Given the description of an element on the screen output the (x, y) to click on. 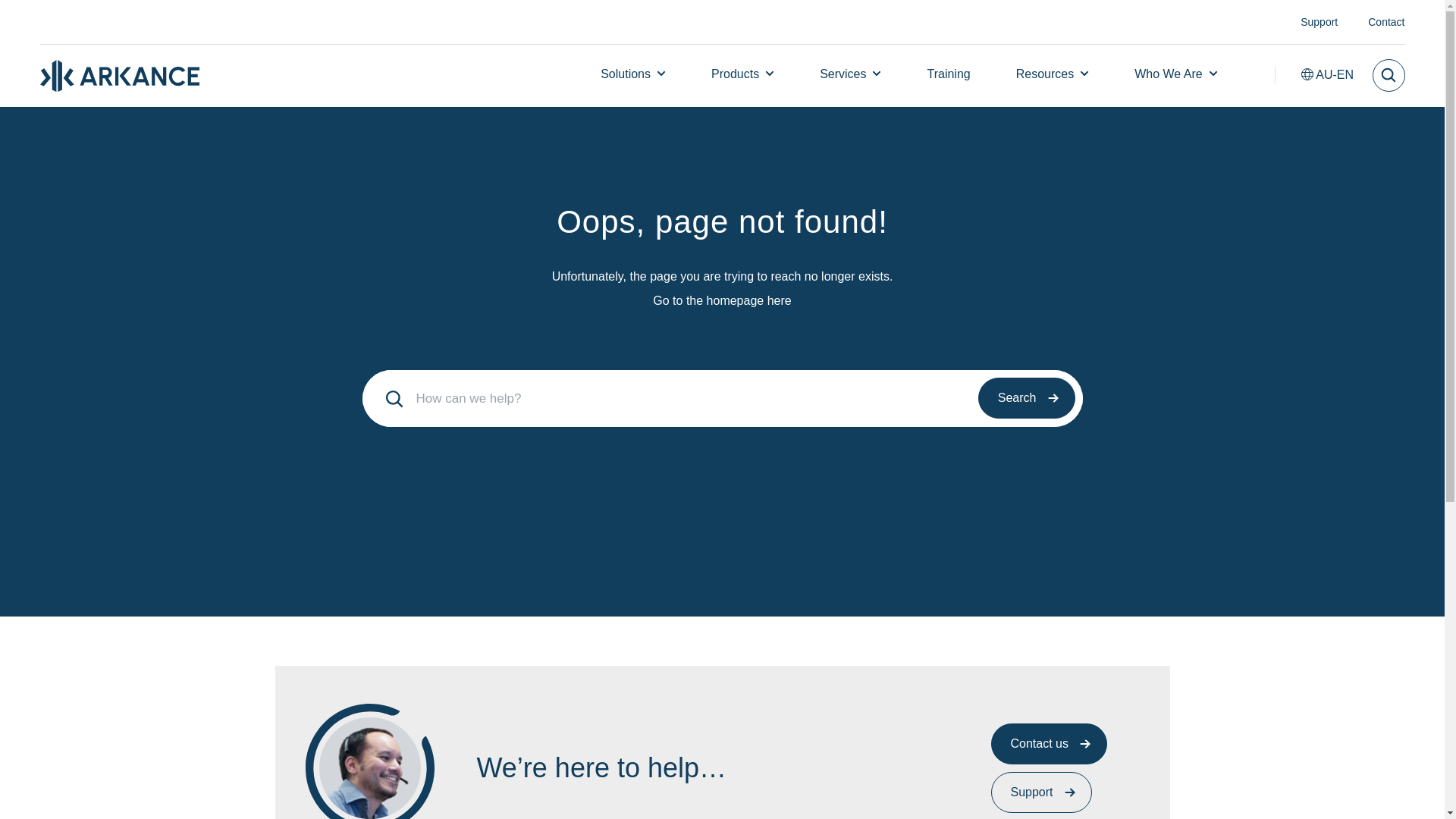
Solutions (624, 72)
Contact (1386, 21)
Support (1319, 21)
Products (734, 72)
Resources (1045, 72)
Training (947, 72)
Who We Are (1168, 72)
Services (842, 72)
